Given the description of an element on the screen output the (x, y) to click on. 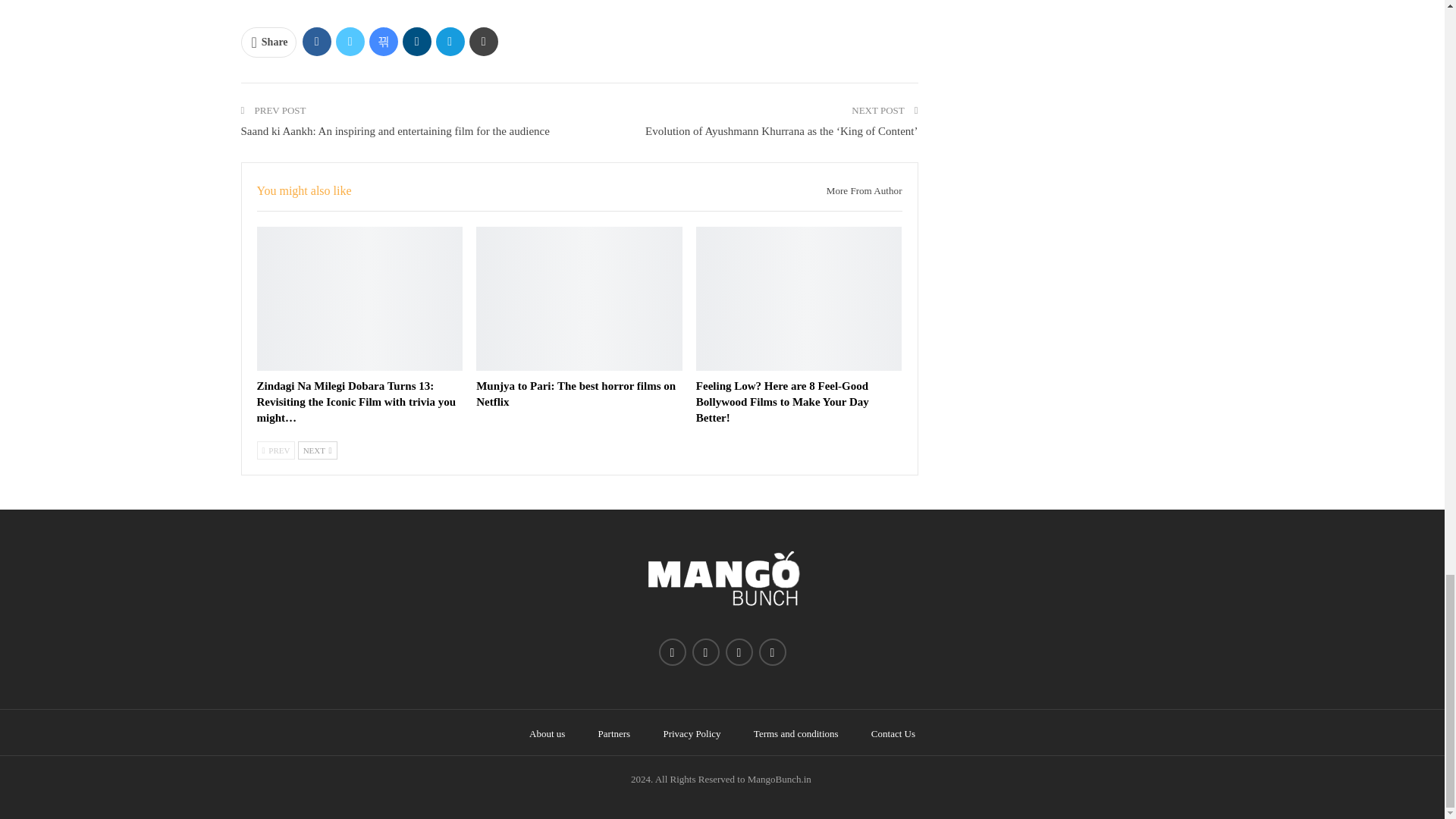
Next (317, 450)
Previous (275, 450)
Munjya to Pari: The best horror films on Netflix (579, 298)
Munjya to Pari: The best horror films on Netflix (575, 393)
